Given the description of an element on the screen output the (x, y) to click on. 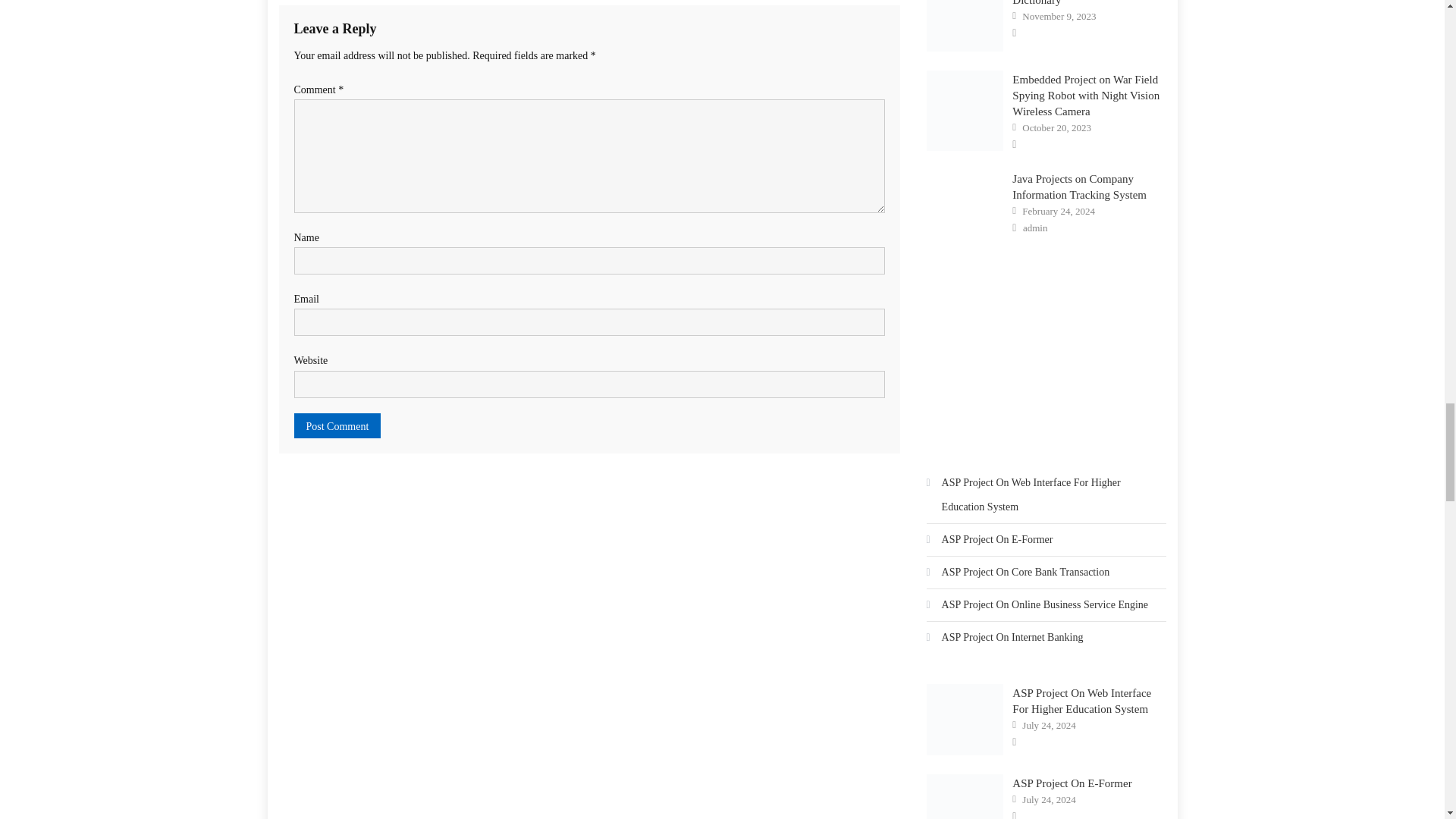
Post Comment (337, 425)
